Given the description of an element on the screen output the (x, y) to click on. 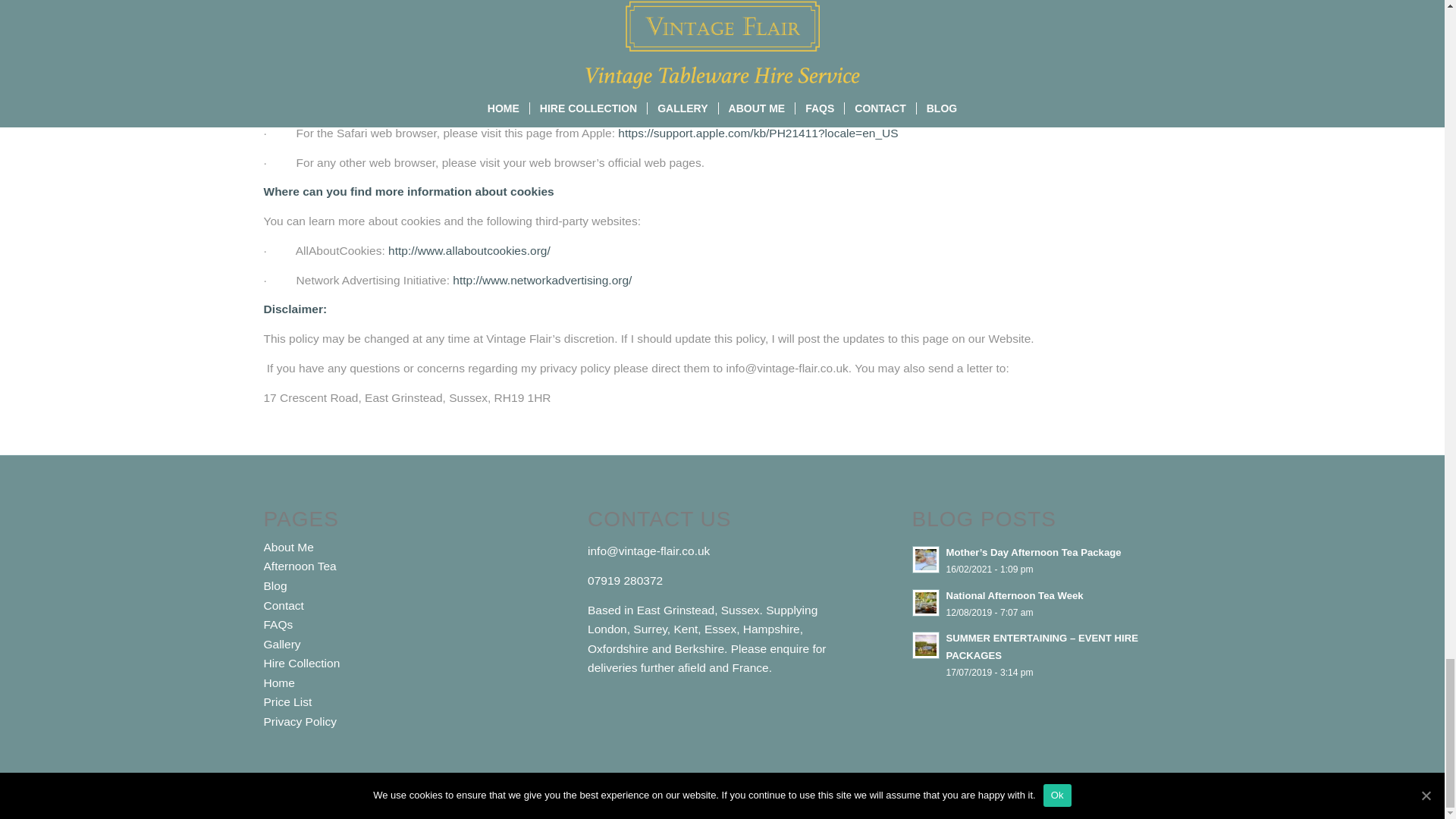
Pinterest (1169, 795)
Afternoon Tea (299, 565)
Price List (288, 701)
Hire Collection (301, 662)
National Afternoon Tea Week (1046, 603)
Blog (274, 585)
Contact (283, 604)
Gallery (282, 644)
FAQs (278, 624)
Instagram (1146, 795)
Facebook (1124, 795)
About Me (288, 546)
Home (279, 682)
